Given the description of an element on the screen output the (x, y) to click on. 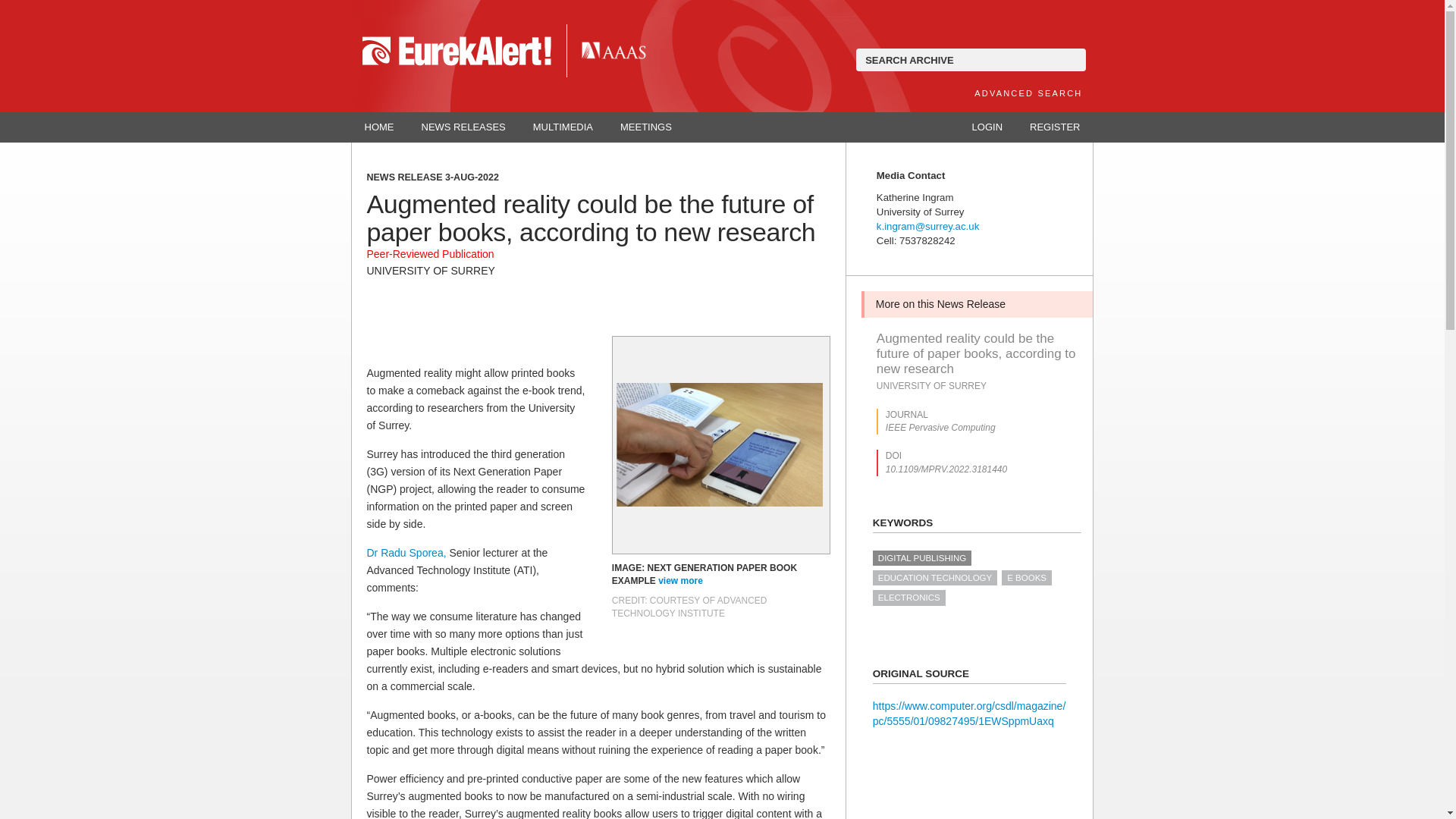
Peer-Reviewed Publication (430, 254)
ADVANCED SEARCH (1027, 92)
LOGIN (987, 127)
EDUCATION TECHNOLOGY (934, 577)
DIGITAL PUBLISHING (921, 557)
HOME (378, 127)
MEETINGS (646, 127)
REGISTER (1054, 127)
E BOOKS (1026, 577)
